Given the description of an element on the screen output the (x, y) to click on. 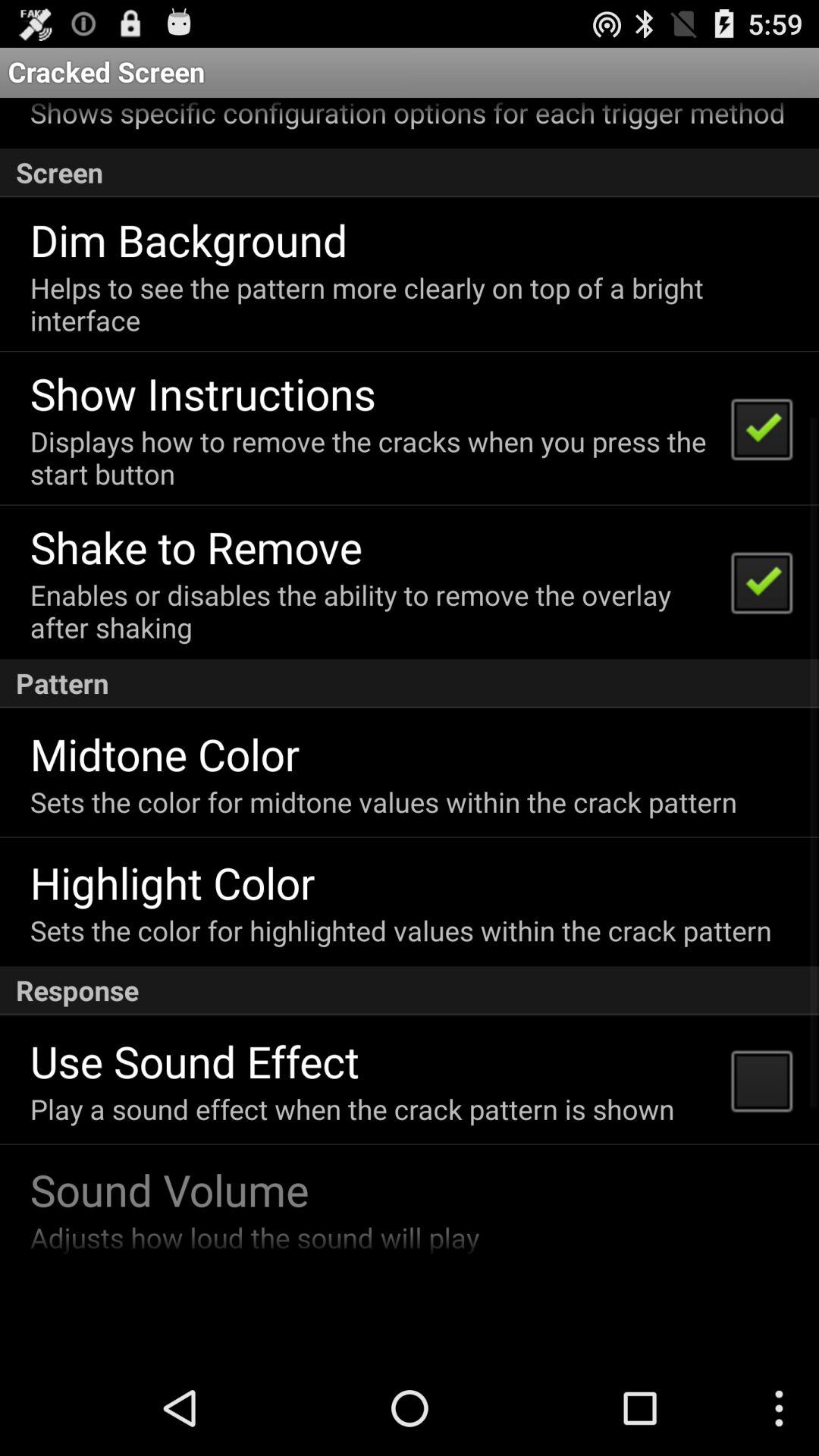
press the icon below the dim background item (408, 303)
